Given the description of an element on the screen output the (x, y) to click on. 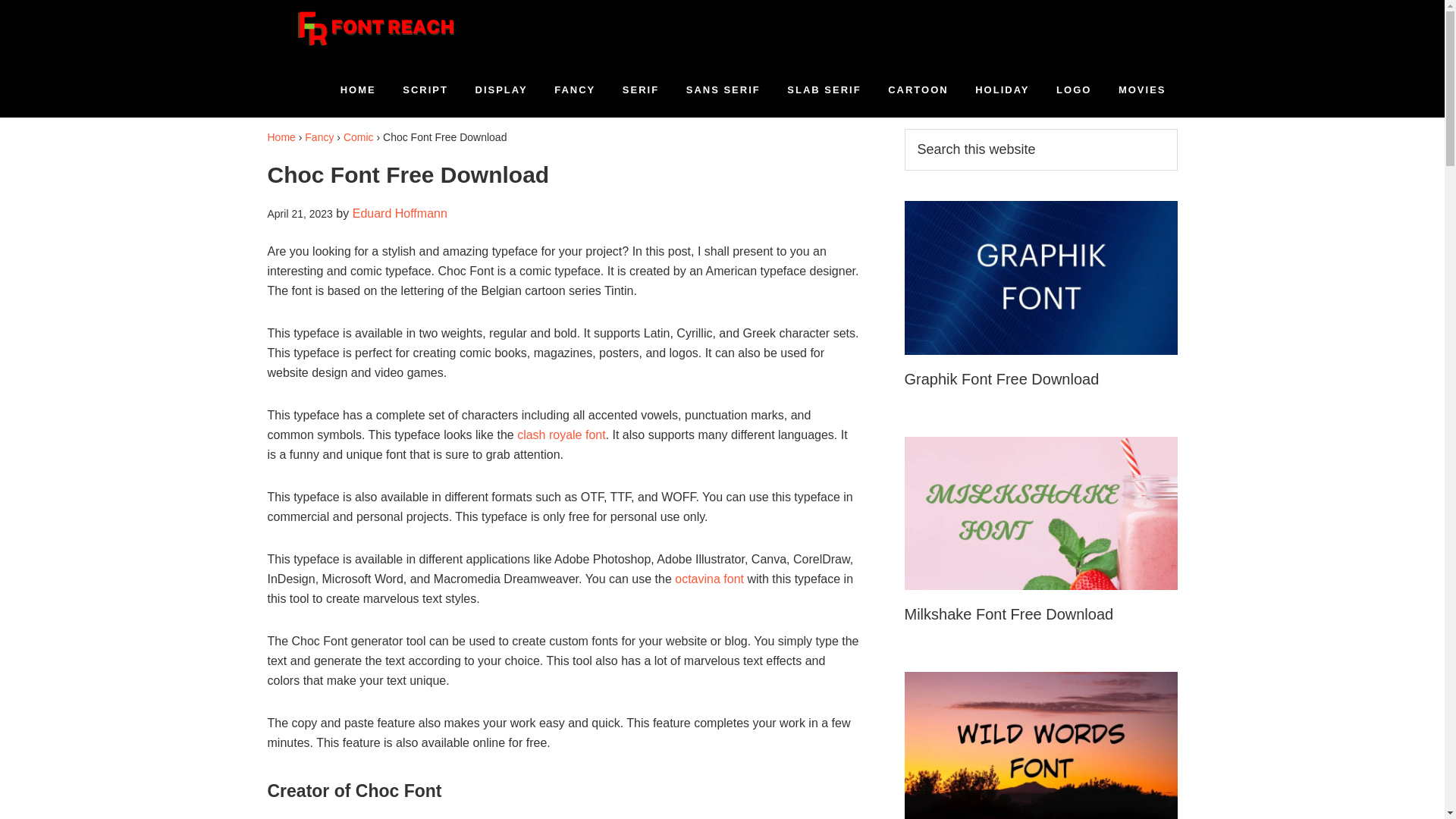
MOVIES (1141, 88)
SERIF (640, 88)
SANS SERIF (723, 88)
Comic (358, 137)
SCRIPT (425, 88)
DISPLAY (501, 88)
HOLIDAY (1002, 88)
octavina font (709, 578)
